Given the description of an element on the screen output the (x, y) to click on. 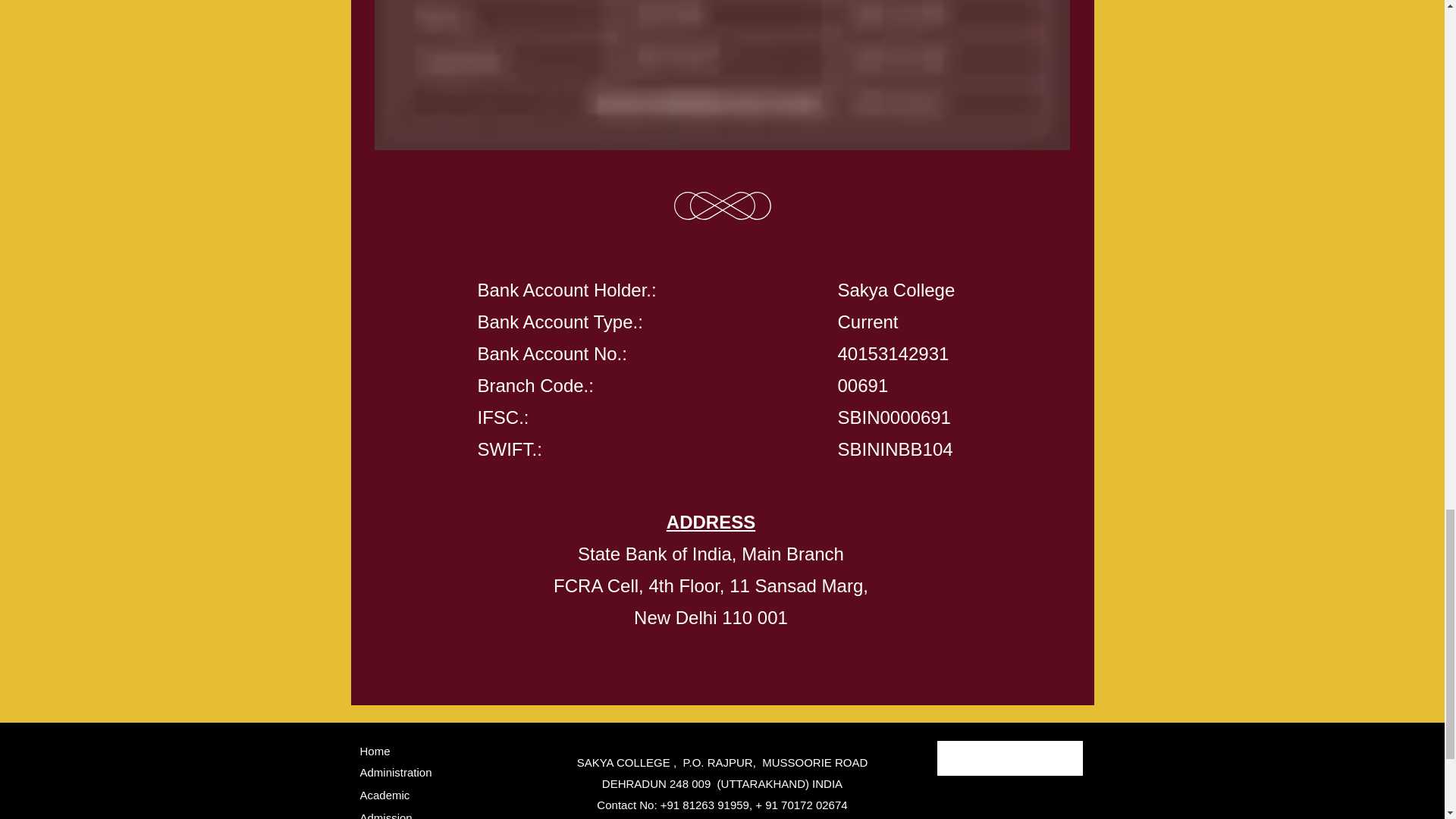
Administration (394, 771)
Academic (384, 794)
Home (374, 750)
